Given the description of an element on the screen output the (x, y) to click on. 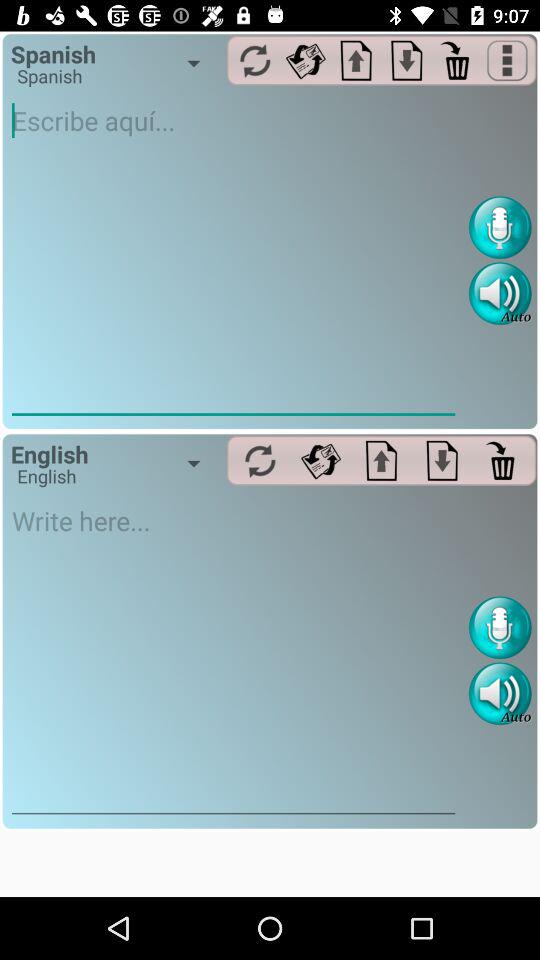
volume (499, 293)
